Given the description of an element on the screen output the (x, y) to click on. 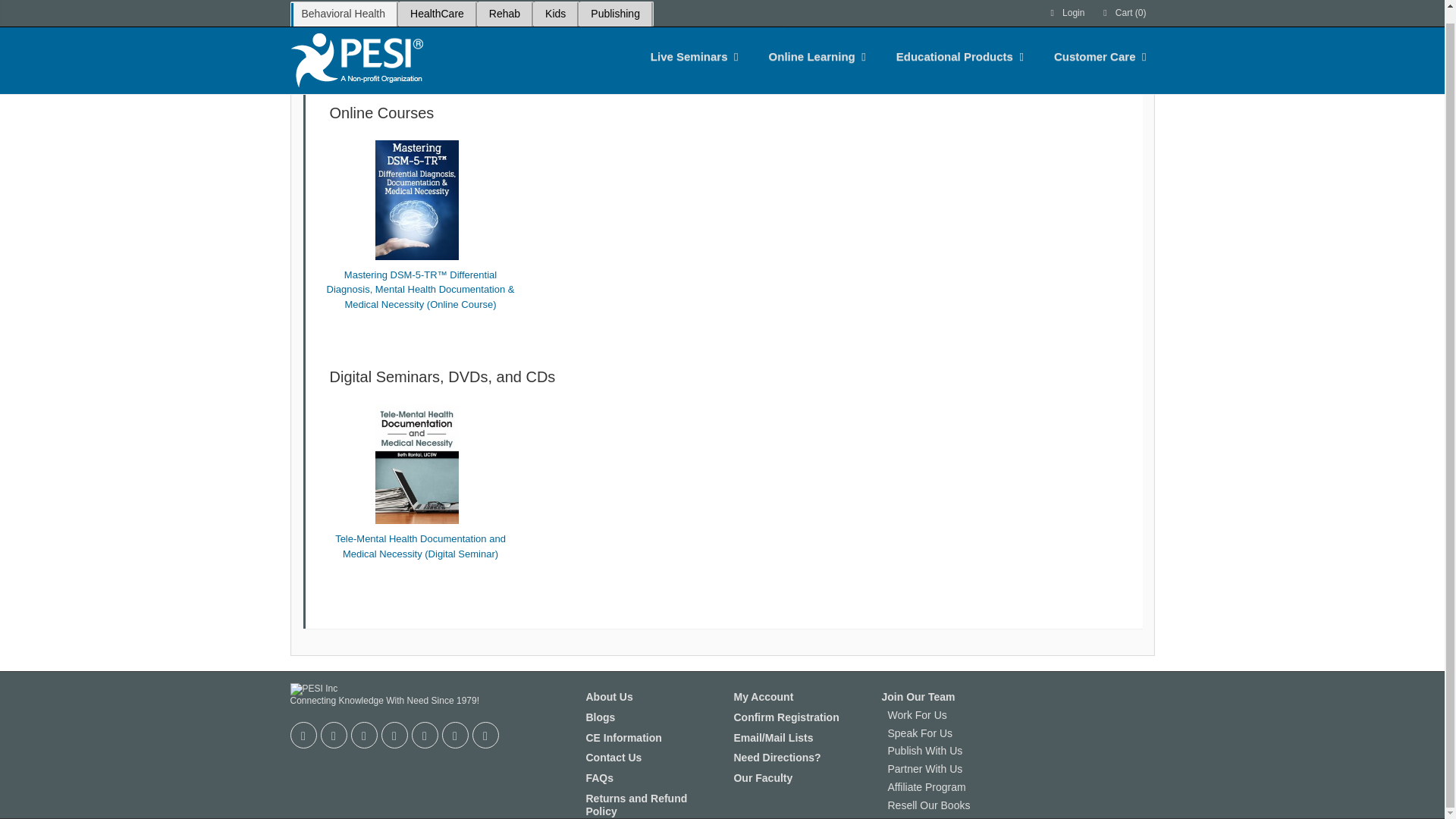
Rehab (504, 6)
Behavioral Health (342, 6)
Online Learning (812, 43)
HealthCare (437, 6)
Login (1067, 6)
Live Seminars (689, 43)
Kids (555, 6)
Publishing (614, 6)
